Given the description of an element on the screen output the (x, y) to click on. 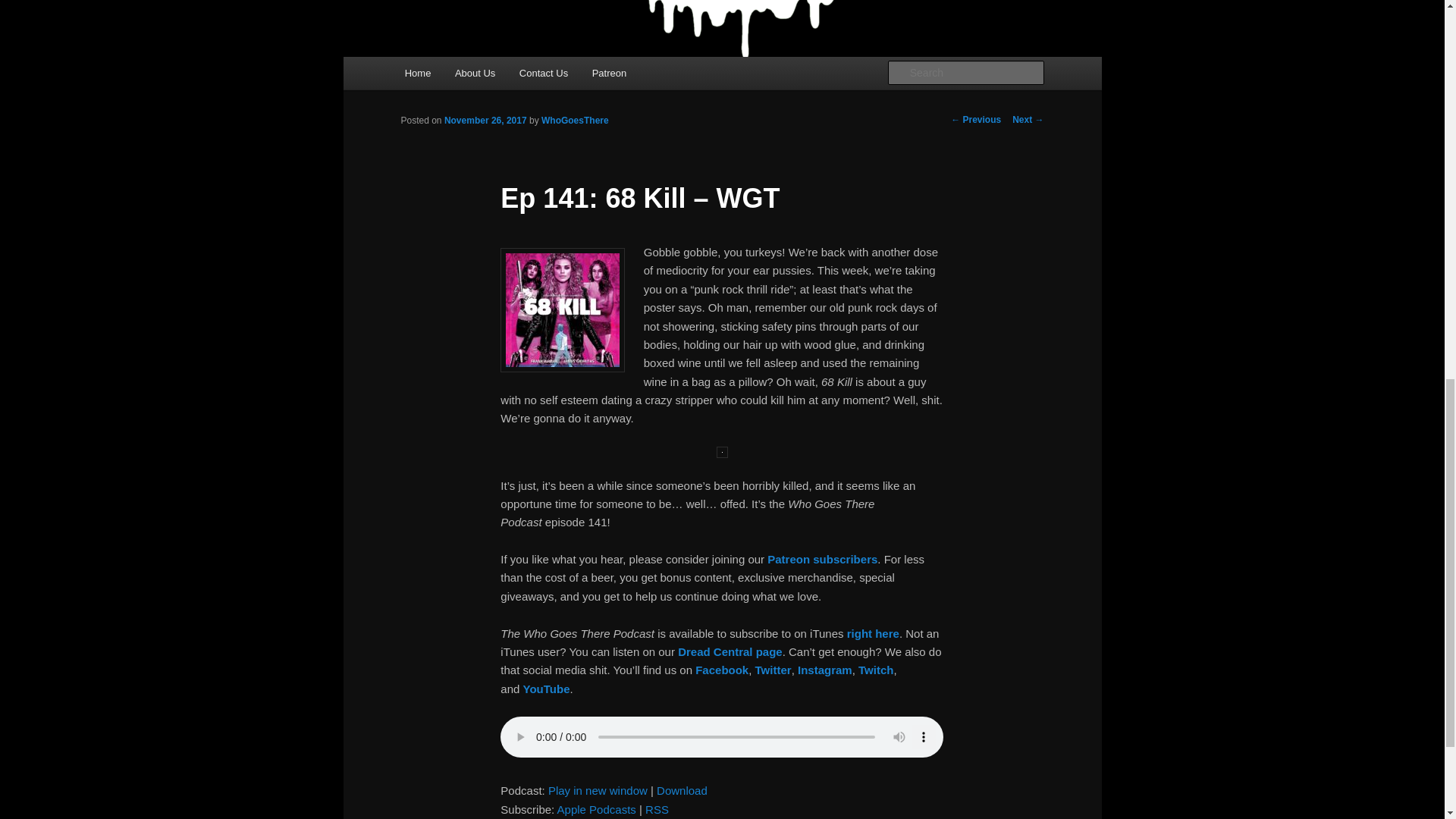
Twitter (773, 669)
Play in new window (597, 789)
Facebook (721, 669)
Subscribe on Apple Podcasts (596, 809)
Patreon subscribers (822, 558)
About Us (474, 72)
right here (873, 632)
Patreon (609, 72)
WhoGoesThere (574, 120)
Twitch (876, 669)
